Given the description of an element on the screen output the (x, y) to click on. 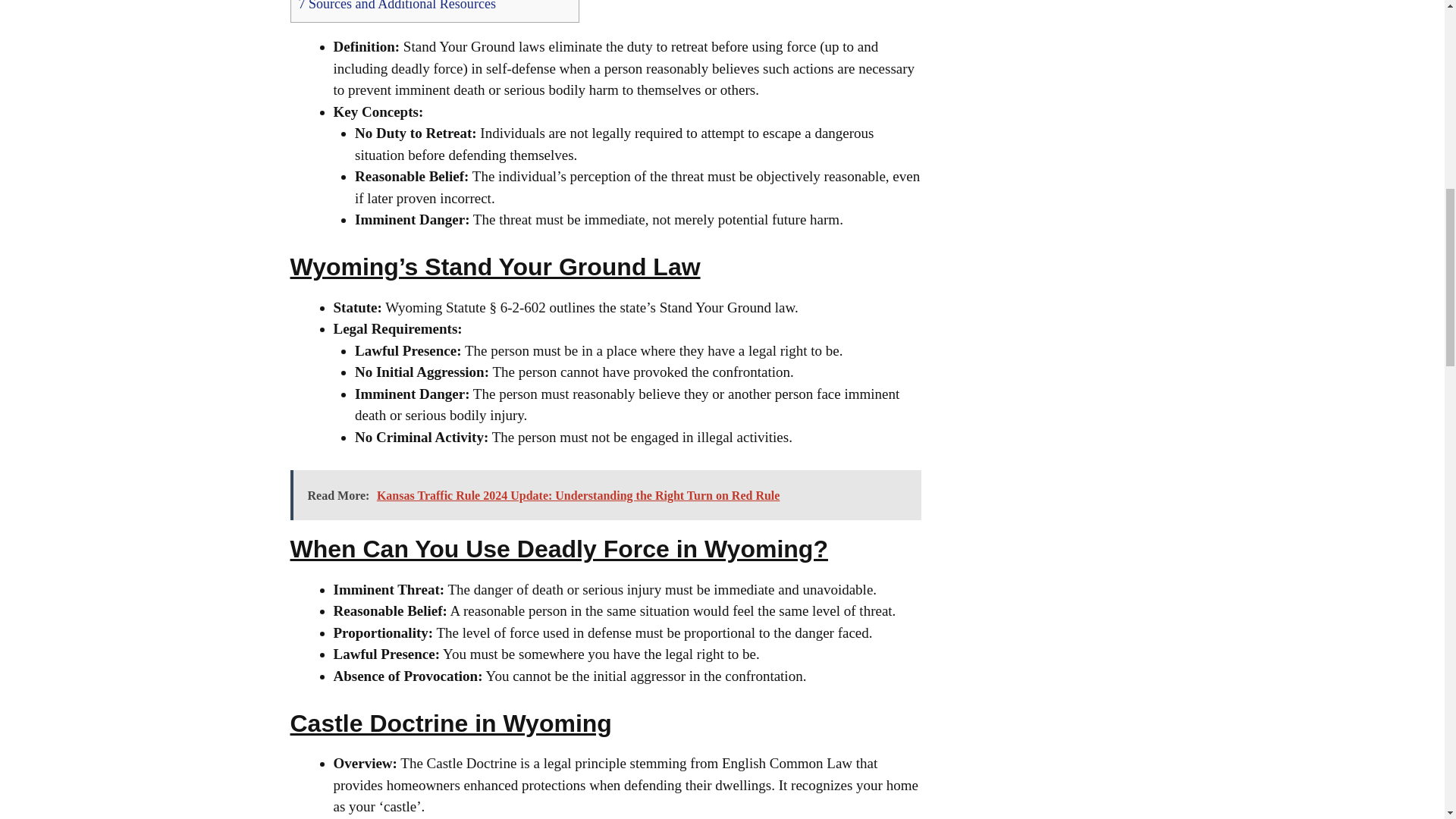
Scroll back to top (1406, 720)
7 Sources and Additional Resources (397, 5)
